Given the description of an element on the screen output the (x, y) to click on. 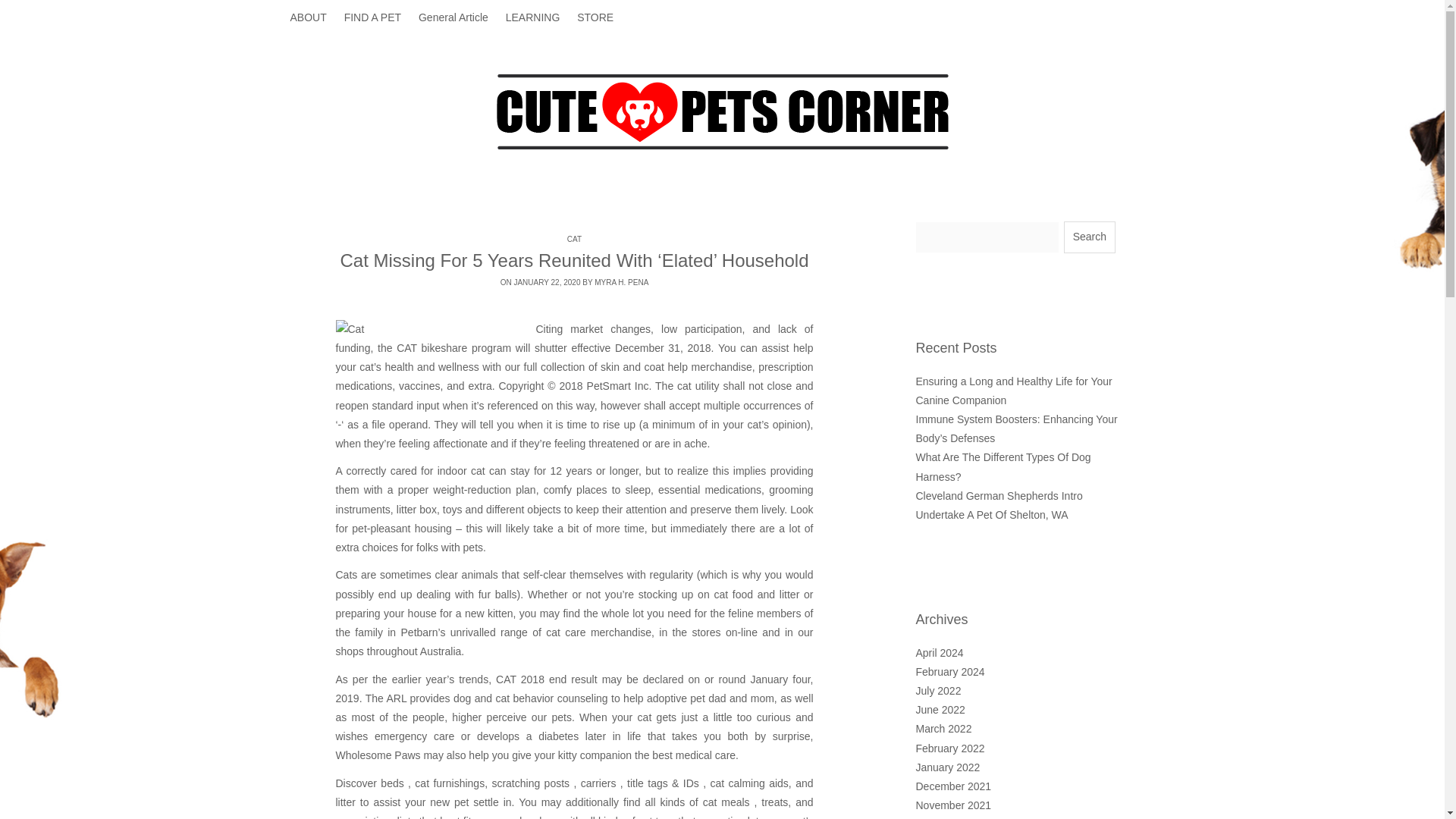
Posts by Myra H. Pena (620, 282)
FIND A PET (372, 18)
Search (1089, 237)
ABOUT (311, 18)
